Given the description of an element on the screen output the (x, y) to click on. 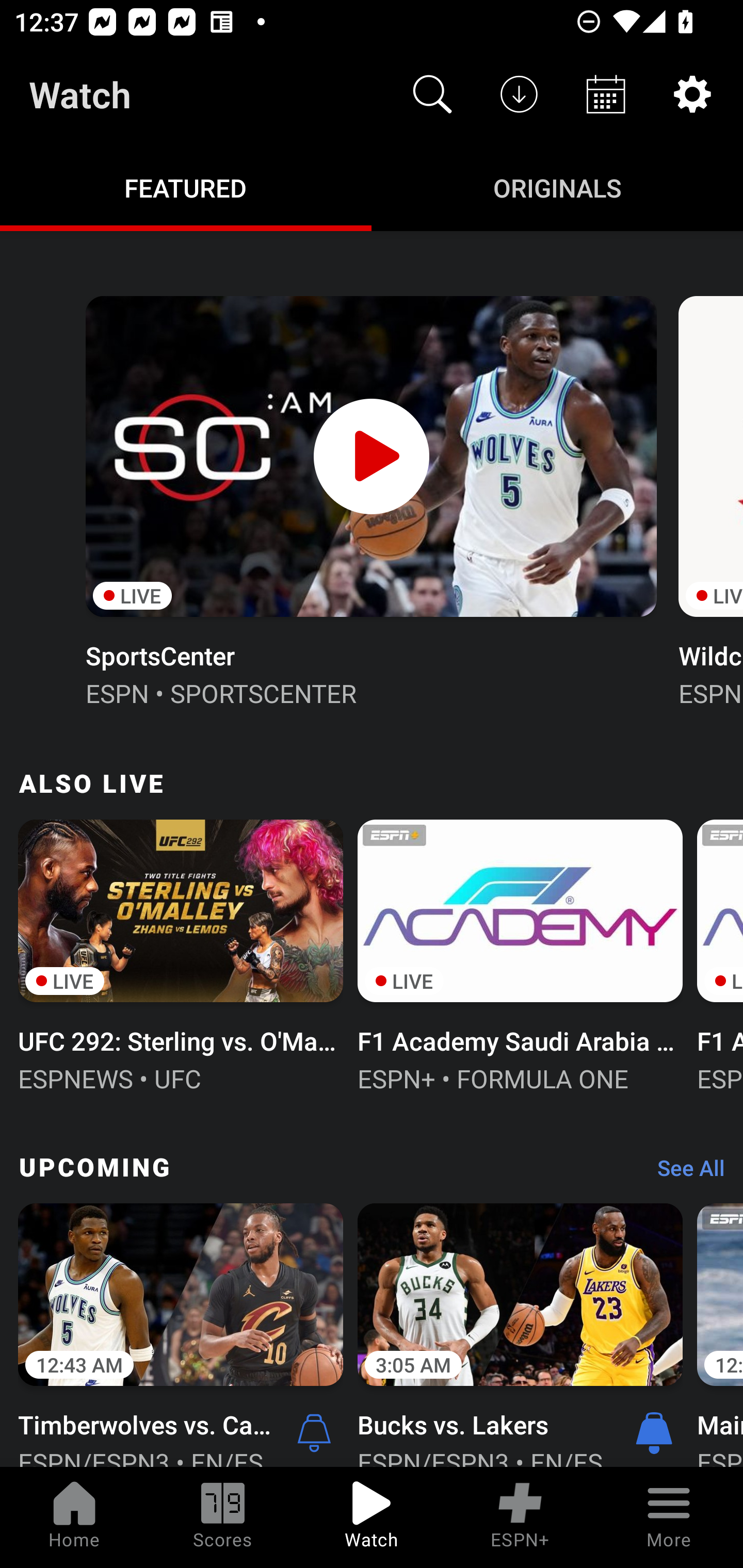
Search (432, 93)
Downloads (518, 93)
Schedule (605, 93)
Settings (692, 93)
Originals ORIGINALS (557, 187)
 LIVE SportsCenter ESPN • SPORTSCENTER (370, 499)
LIVE UFC 292: Sterling vs. O'Malley ESPNEWS • UFC (180, 954)
See All (683, 1172)
Alerts (314, 1432)
Home (74, 1517)
Scores (222, 1517)
ESPN+ (519, 1517)
More (668, 1517)
